Given the description of an element on the screen output the (x, y) to click on. 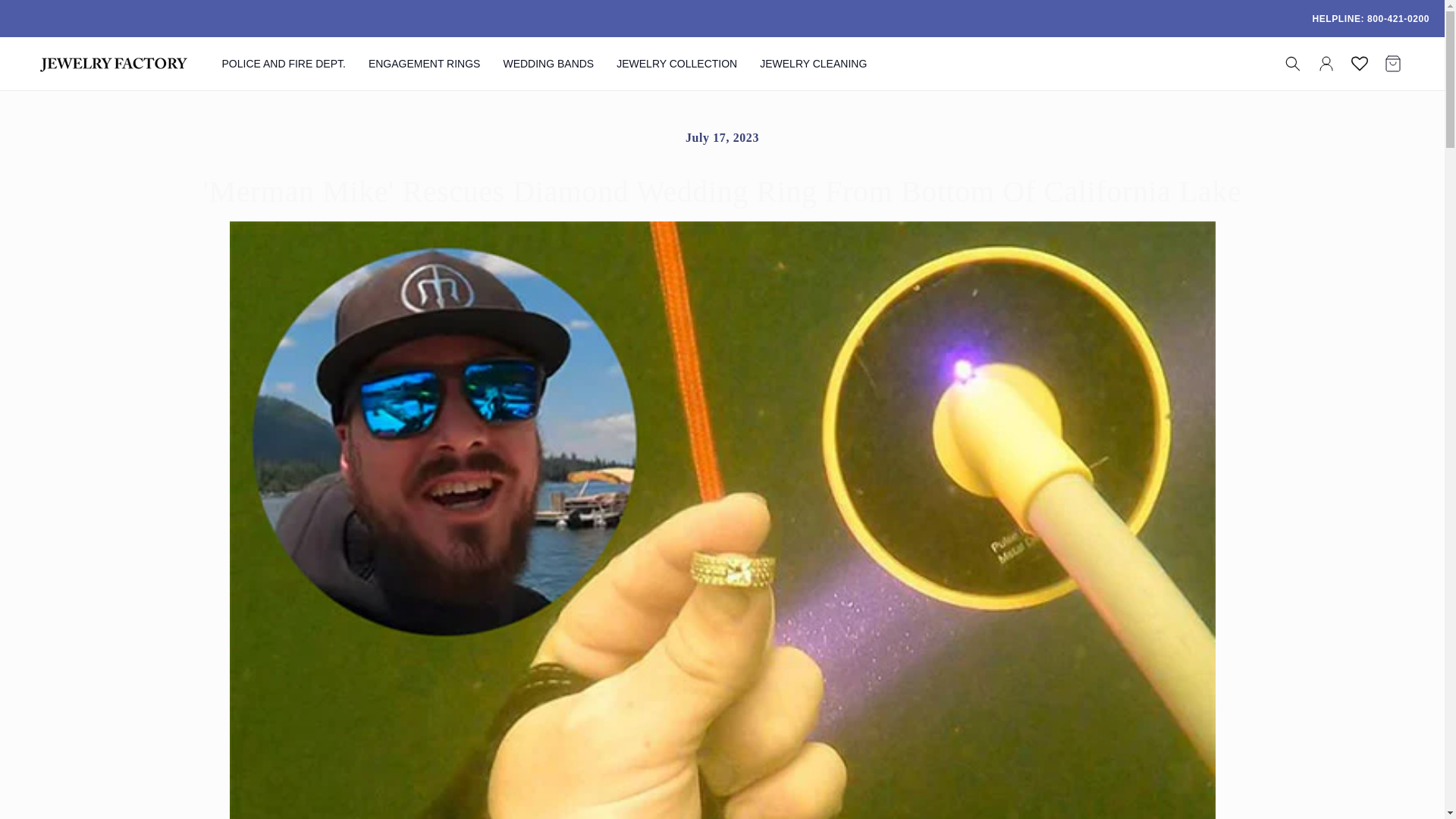
Skip to content (45, 17)
